Given the description of an element on the screen output the (x, y) to click on. 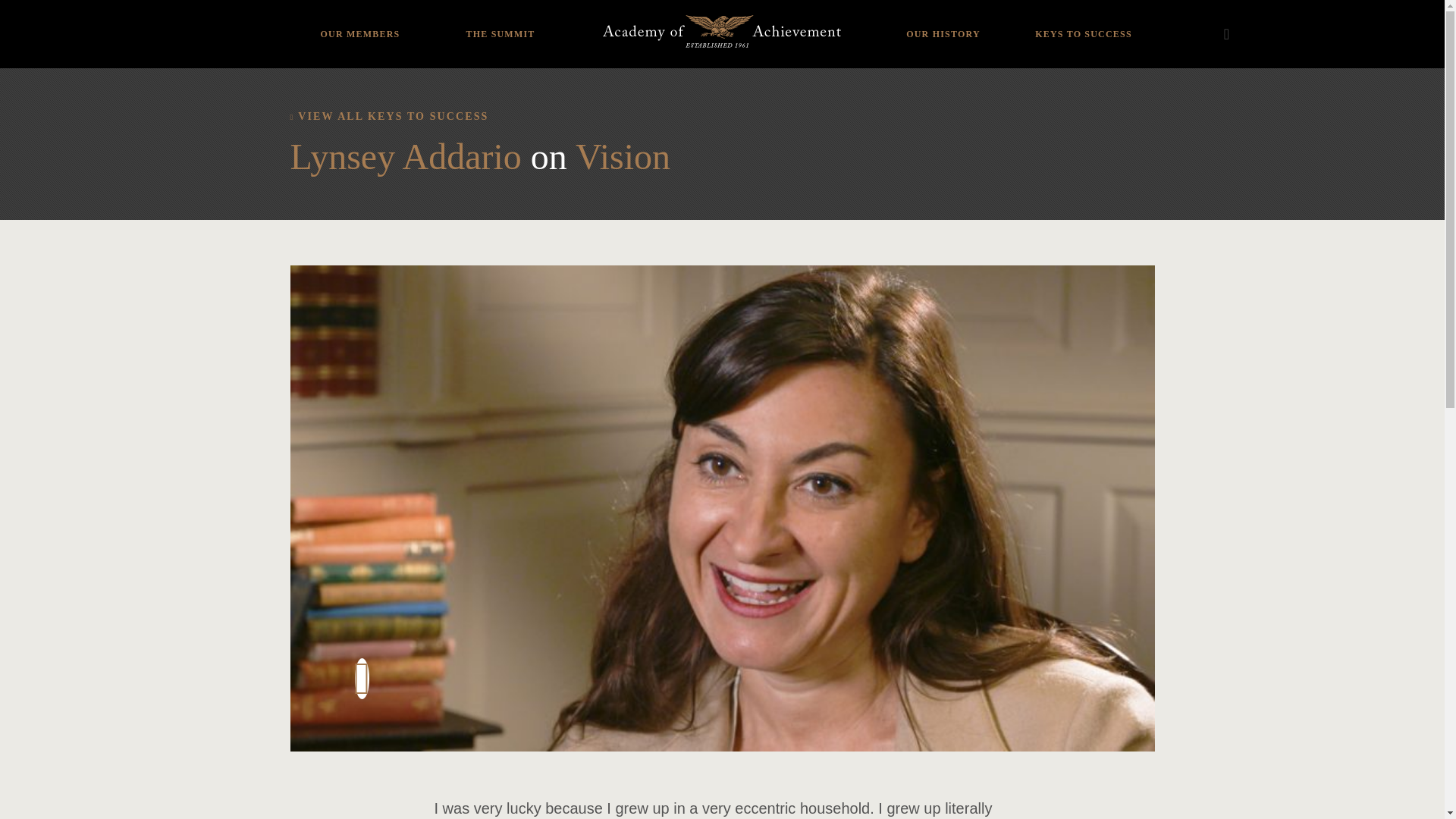
2003 (464, 5)
GOLDEN PLATE AWARDEES (943, 18)
THE SUMMIT (500, 22)
ACHIEVER UNIVERSE (359, 23)
OUR MEMBERS (359, 22)
SPORTS (359, 5)
OUR HISTORY (943, 22)
KEYS TO SUCCESS (1083, 22)
2002 (464, 23)
